Given the description of an element on the screen output the (x, y) to click on. 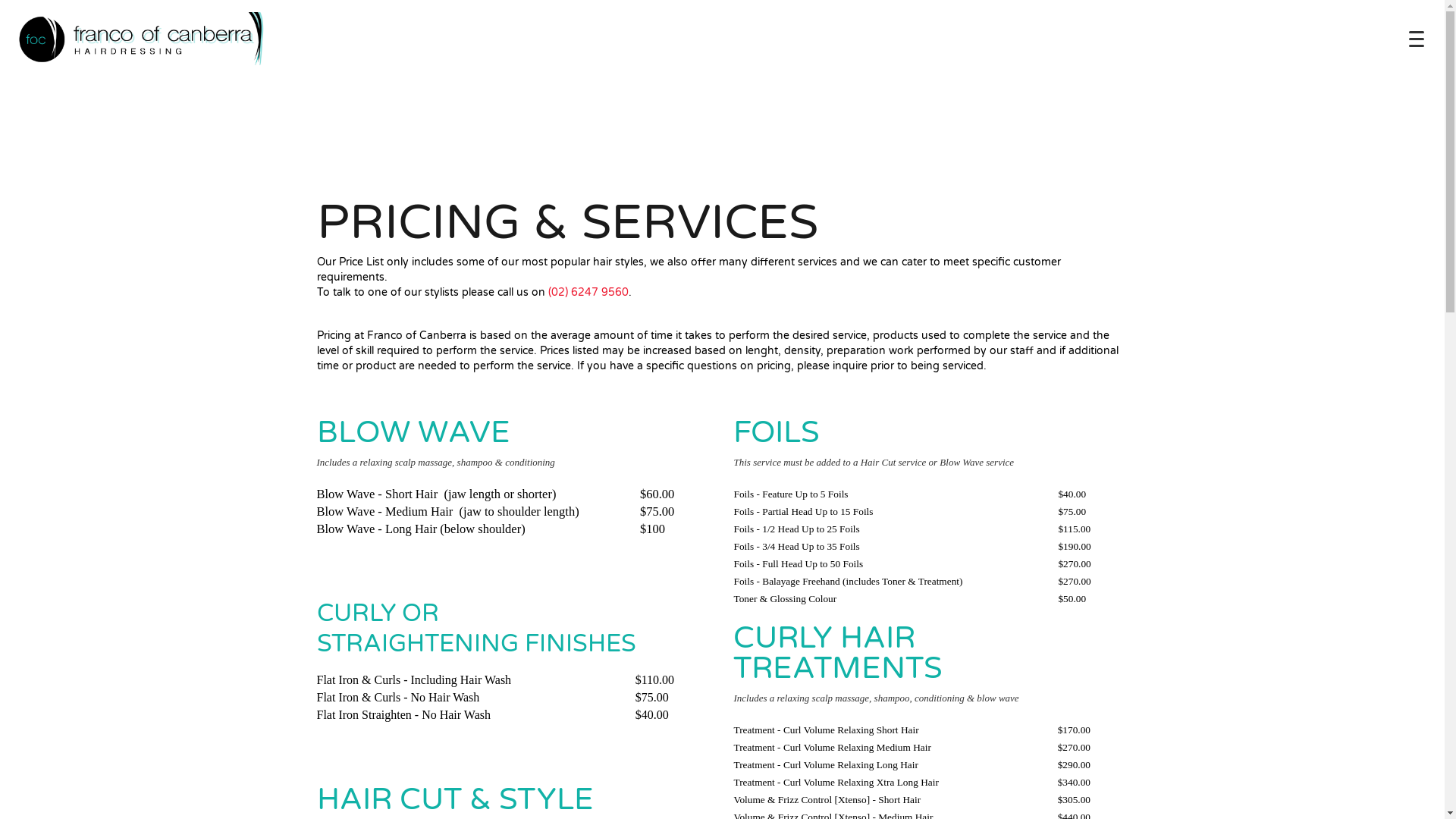
(02) 6247 9560 Element type: text (587, 291)
